Given the description of an element on the screen output the (x, y) to click on. 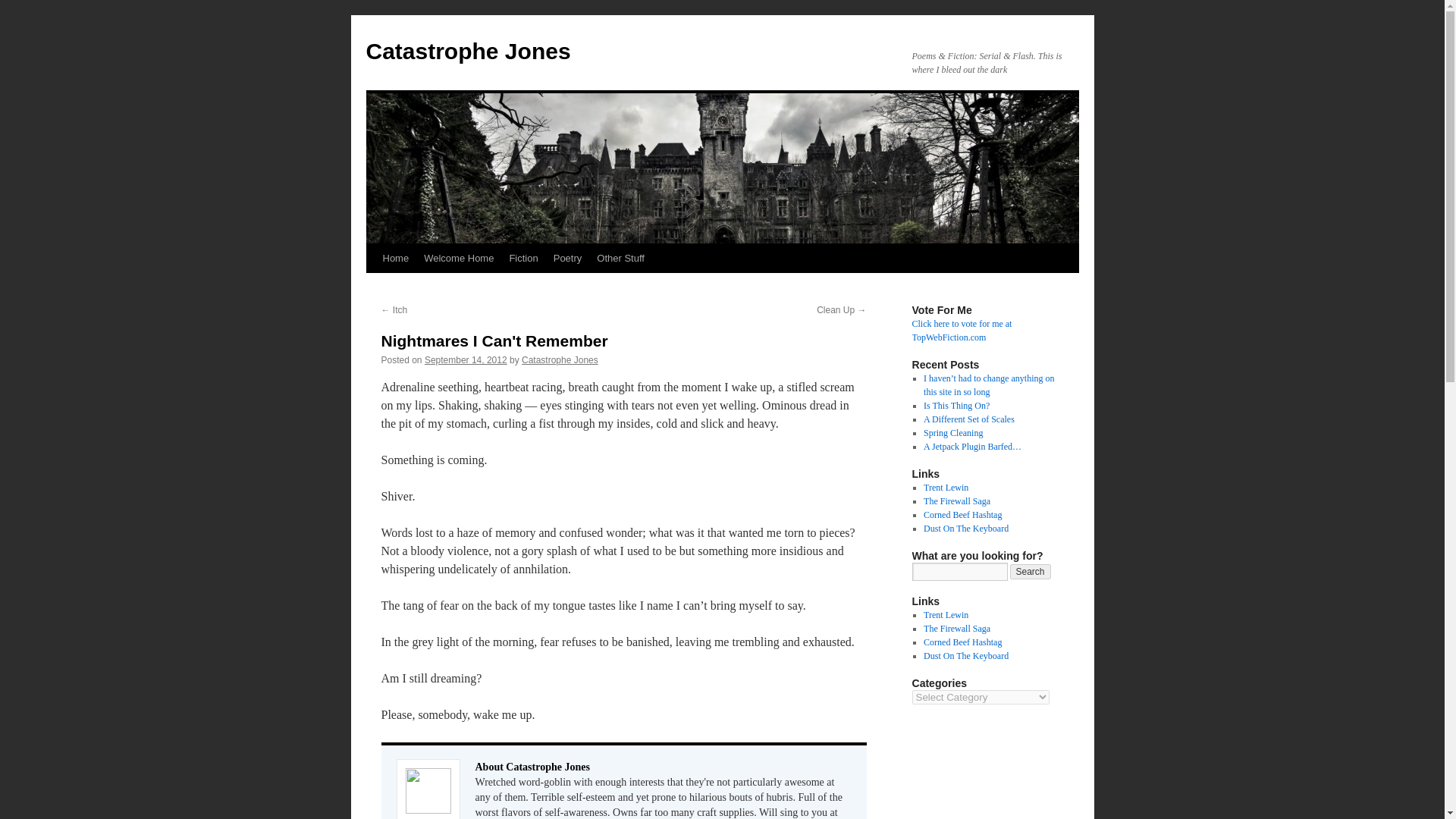
Poetry (567, 258)
Fiction (522, 258)
Spring Cleaning (952, 432)
September 14, 2012 (465, 359)
Fiction, and other Made-Up Stories (945, 487)
Home (395, 258)
A webserial by Braden Russell (956, 628)
6:00 pm (465, 359)
Catastrophe Jones (559, 359)
Fiction, and other Made-Up Stories (945, 614)
Is This Thing On? (956, 405)
Click here to vote for me at TopWebFiction.com (961, 330)
